Given the description of an element on the screen output the (x, y) to click on. 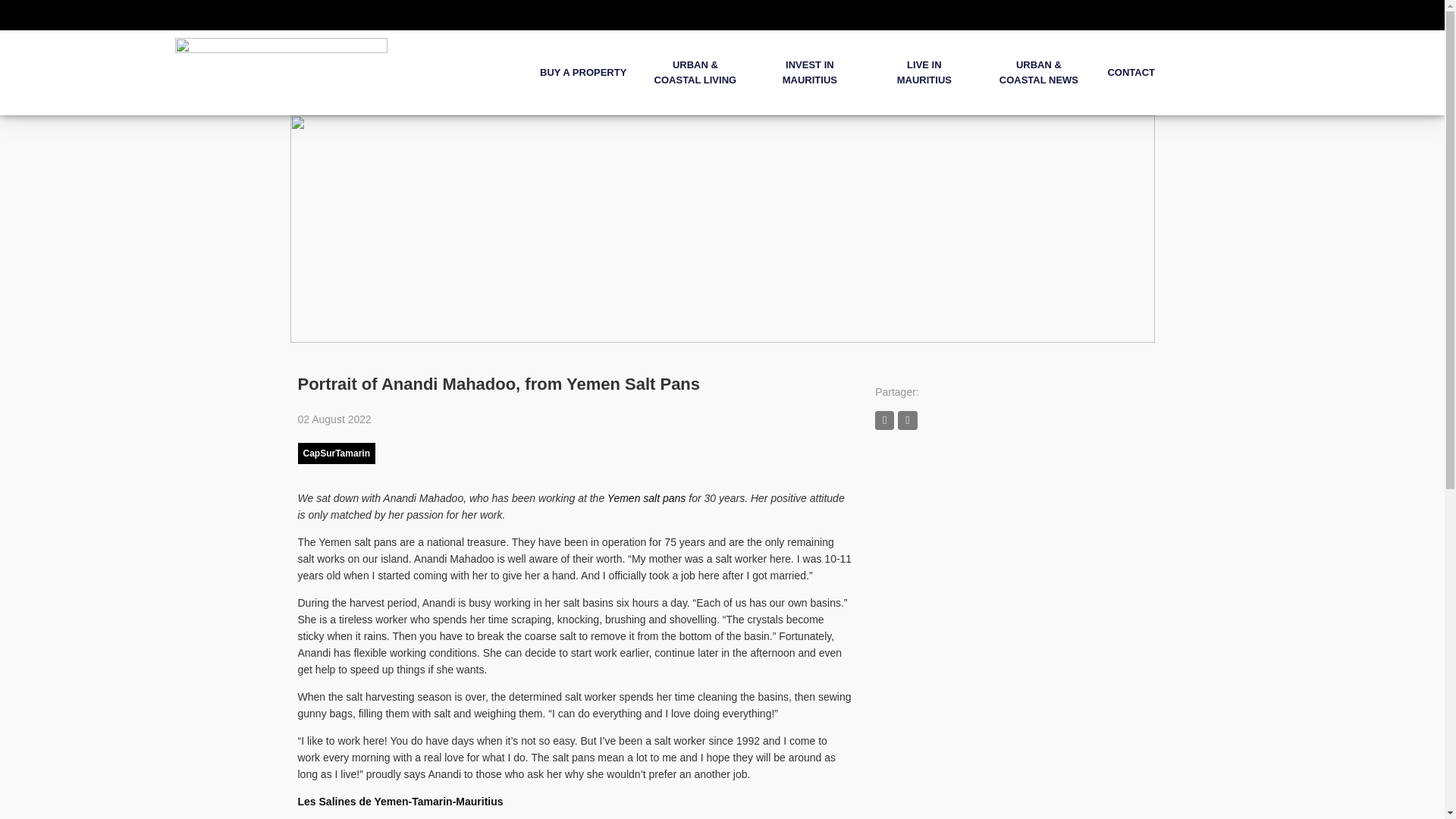
BUY A PROPERTY (583, 72)
LIVE IN MAURITIUS (923, 72)
CONTACT (1130, 72)
INVEST IN MAURITIUS (809, 72)
